Given the description of an element on the screen output the (x, y) to click on. 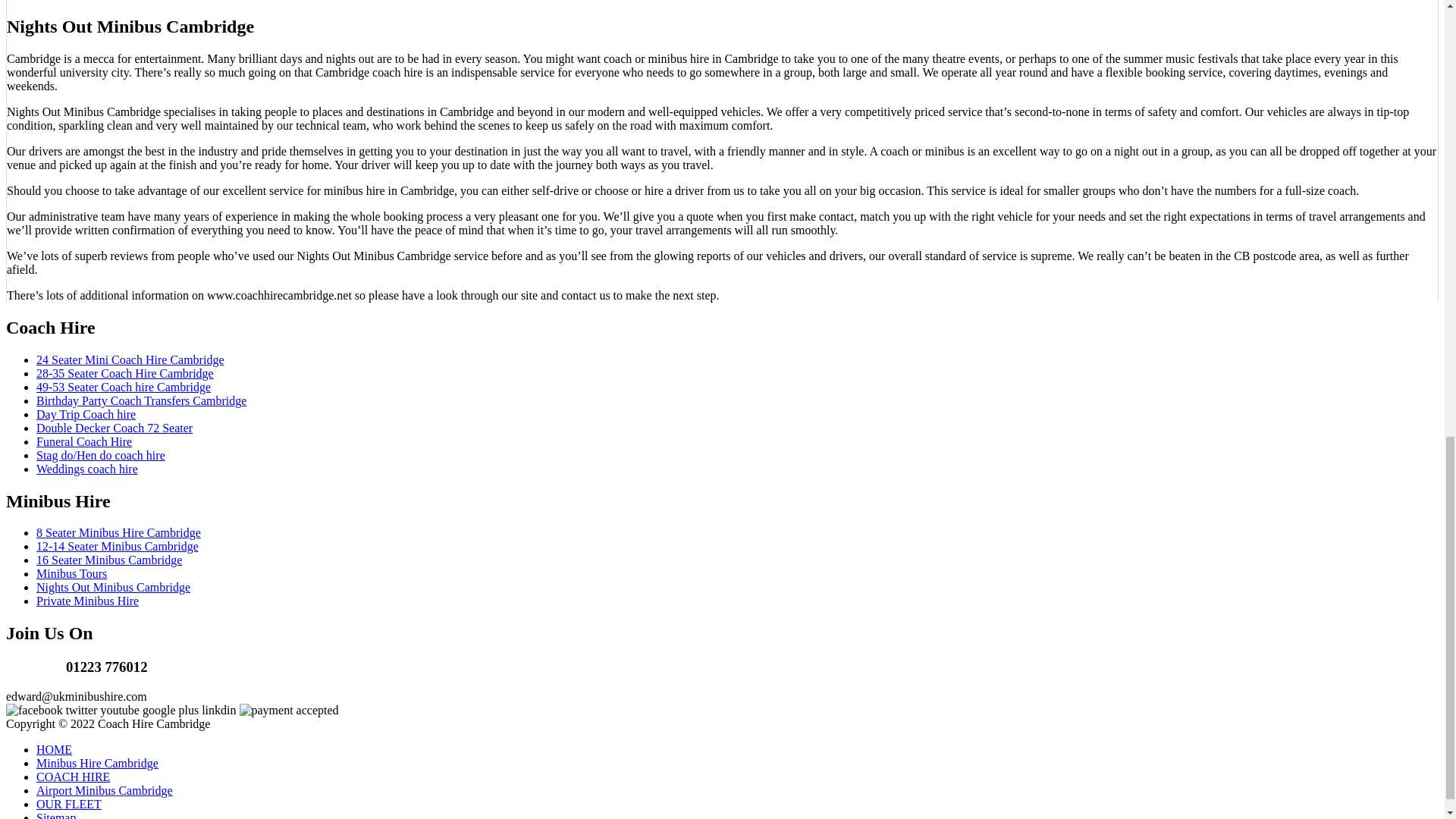
24 Seater Mini Coach Hire Cambridge (130, 359)
Birthday Party Coach Transfers Cambridge (141, 400)
49-53 Seater Coach hire Cambridge (123, 386)
28-35 Seater Coach Hire Cambridge (125, 373)
